Given the description of an element on the screen output the (x, y) to click on. 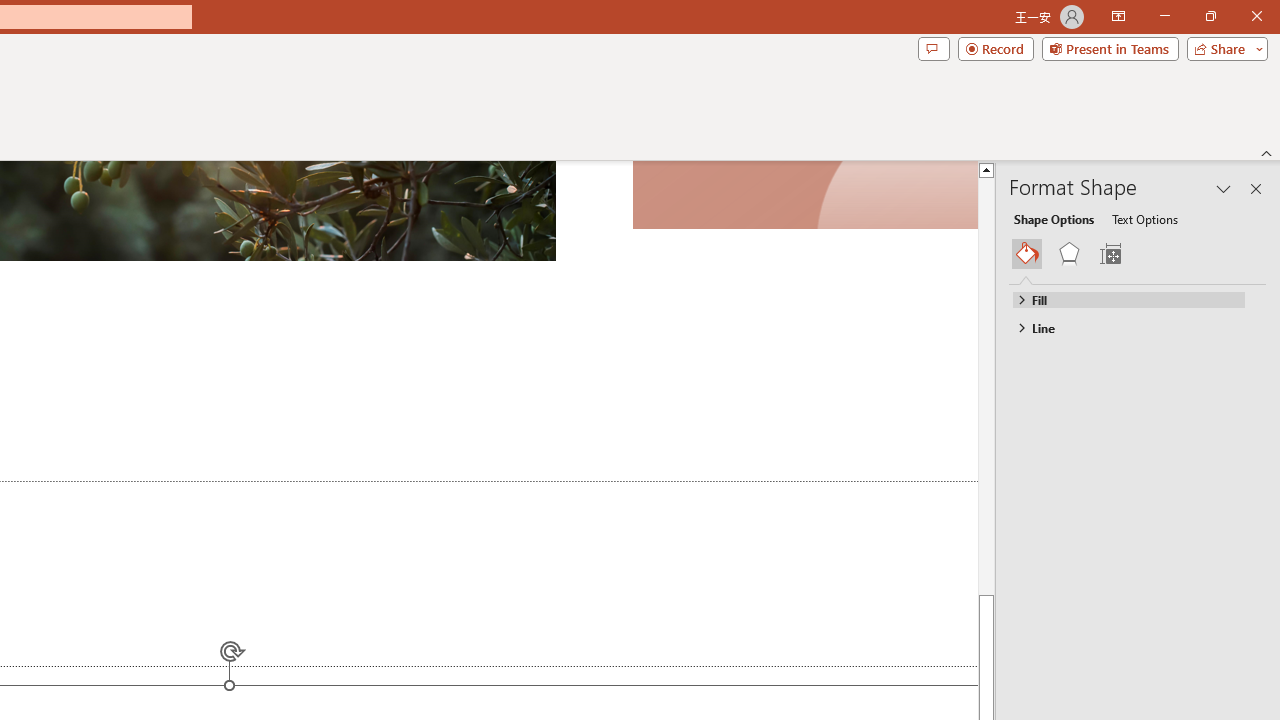
Class: NetUIGalleryContainer (1138, 254)
Fill & Line (1027, 254)
Fill (1128, 299)
Shape Options (1054, 218)
Text Options (1144, 218)
Camera 7, No camera detected. (804, 195)
Size & Properties (1110, 254)
